Given the description of an element on the screen output the (x, y) to click on. 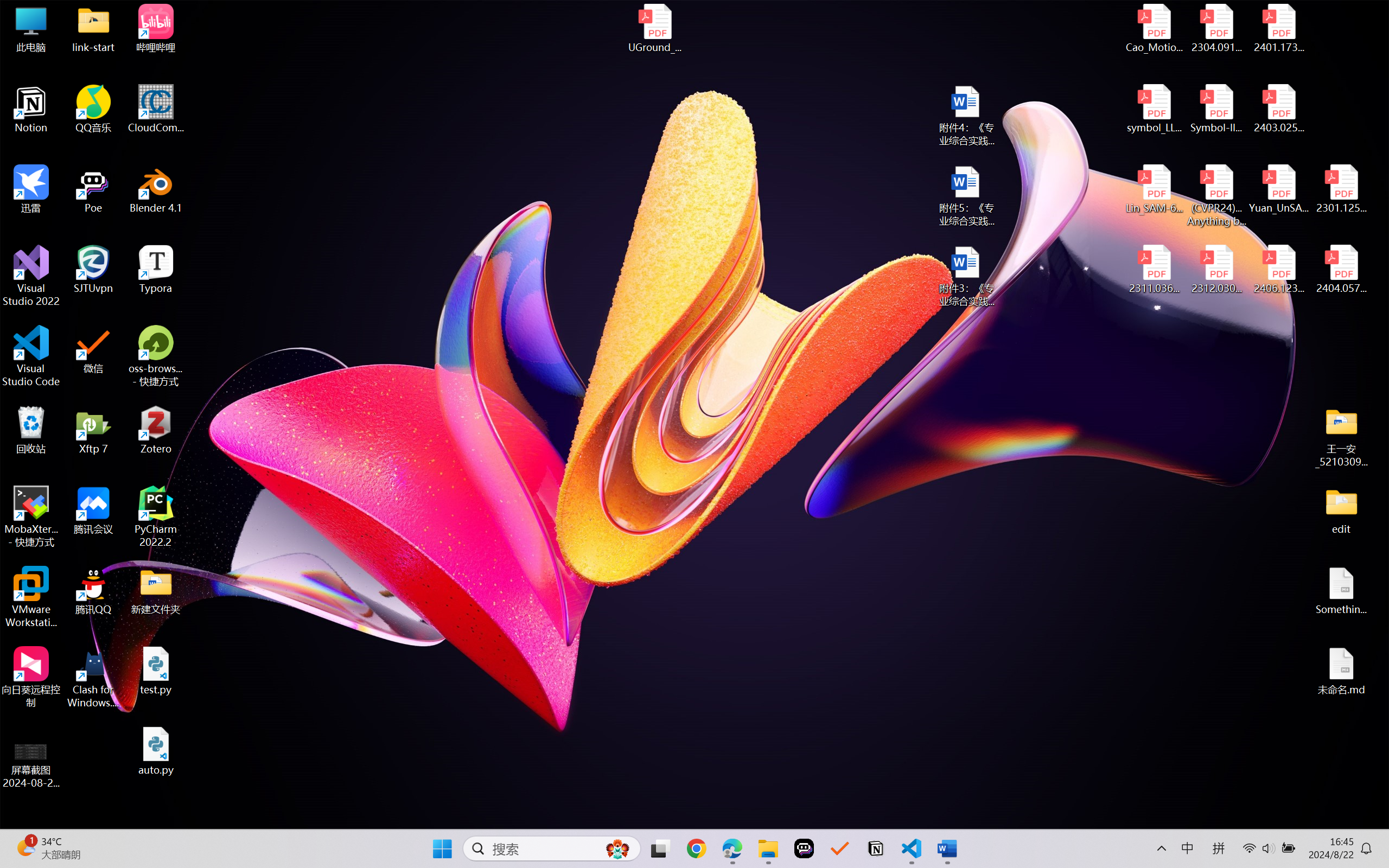
Symbol-llm-v2.pdf (1216, 109)
Blender 4.1 (156, 189)
2406.12373v2.pdf (1278, 269)
symbol_LLM.pdf (1154, 109)
2304.09121v3.pdf (1216, 28)
Typora (156, 269)
auto.py (156, 751)
SJTUvpn (93, 269)
